Given the description of an element on the screen output the (x, y) to click on. 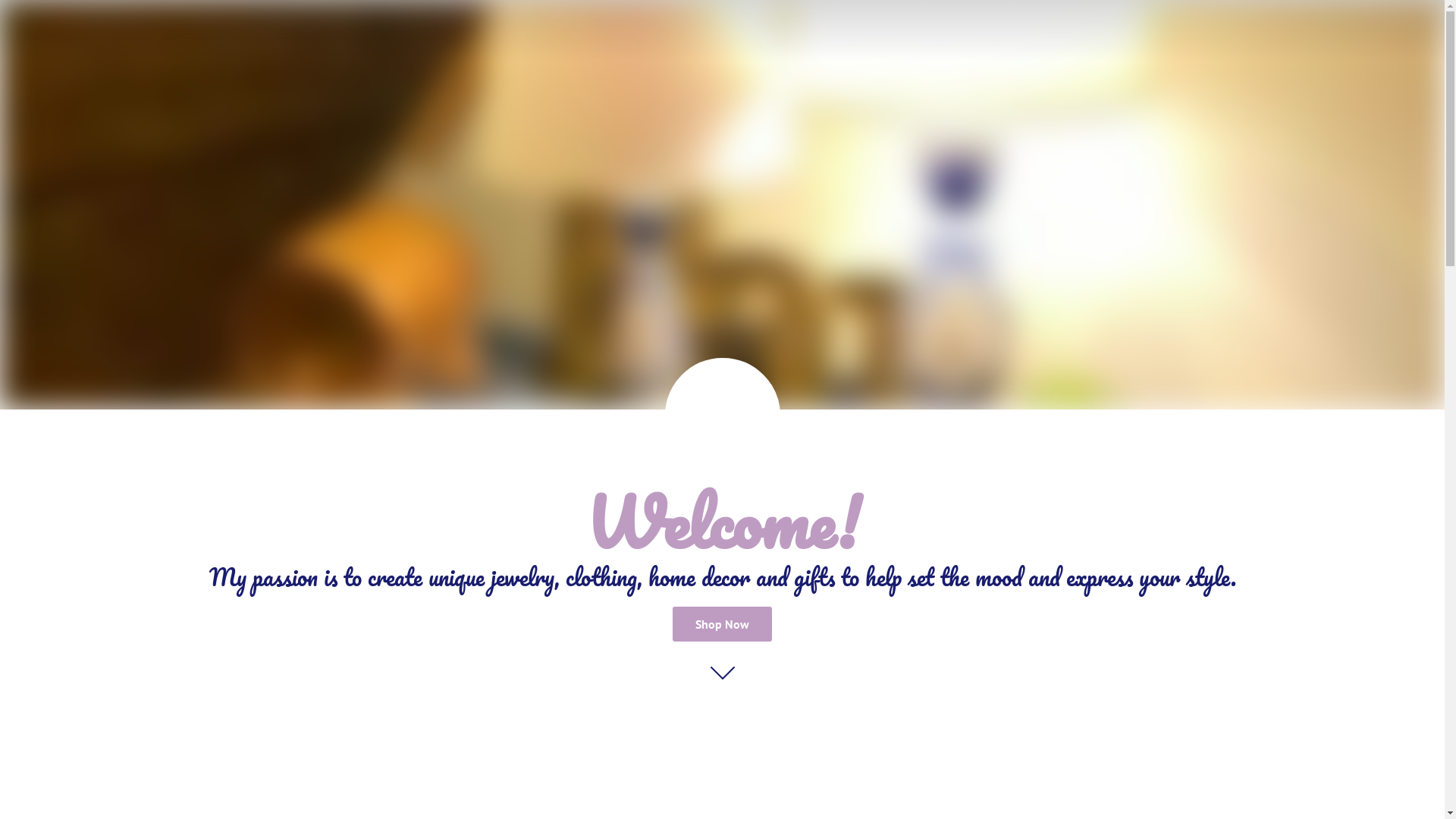
Shop Now Element type: text (721, 623)
